Given the description of an element on the screen output the (x, y) to click on. 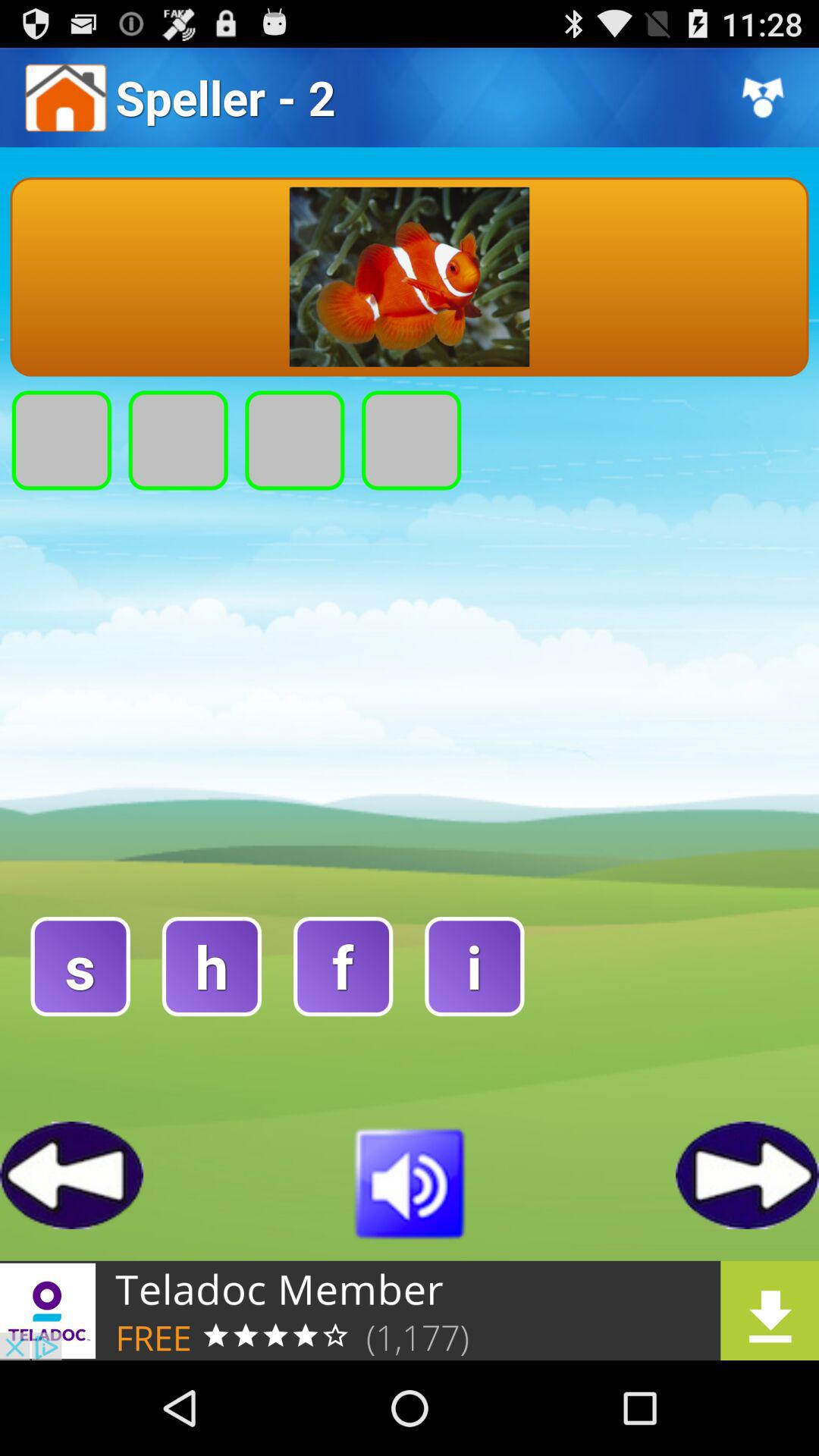
advertising (409, 1310)
